Given the description of an element on the screen output the (x, y) to click on. 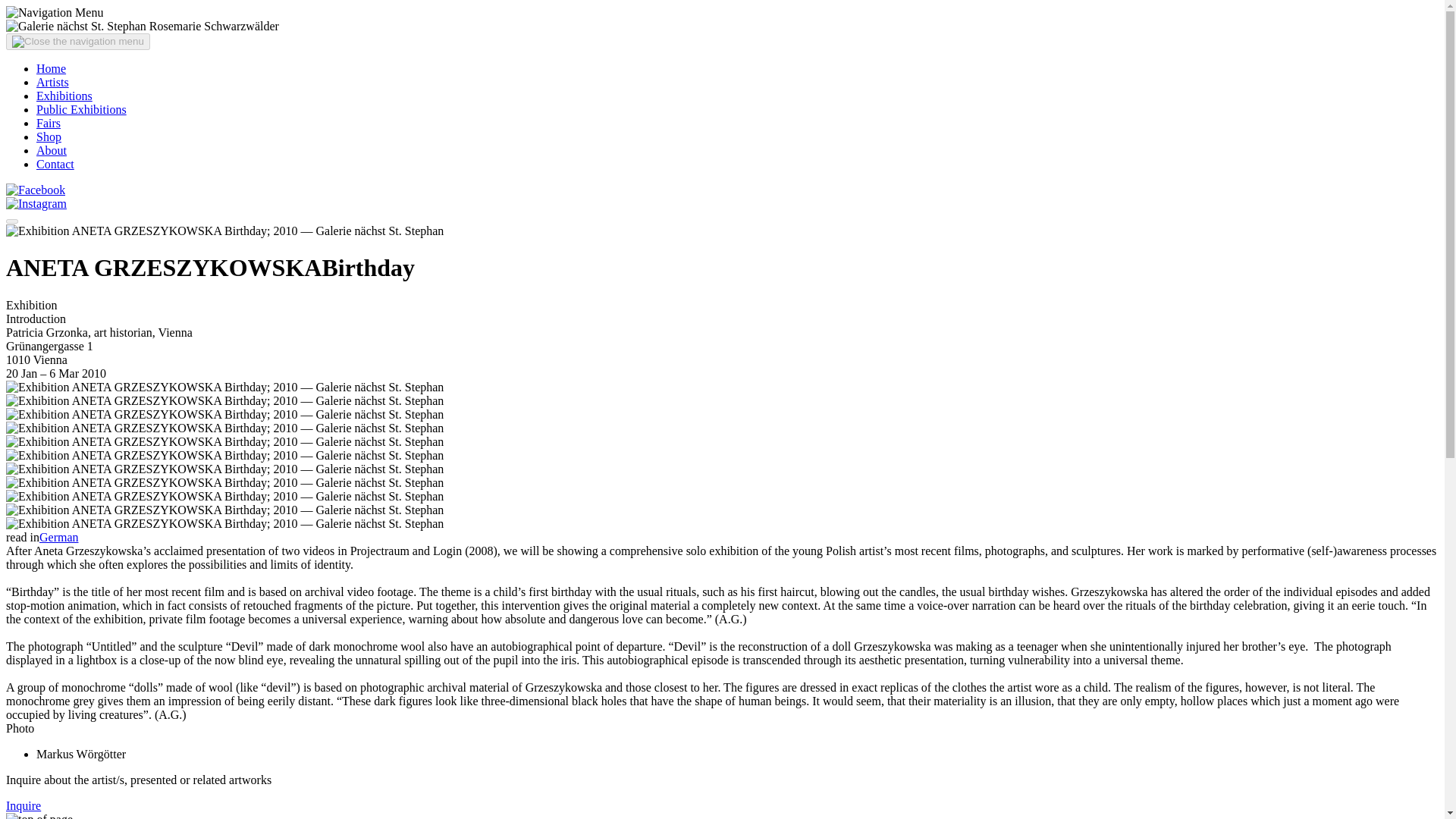
Fairs (48, 123)
Shop (48, 136)
Close navigation menu (77, 41)
About (51, 150)
Exhibitions (64, 95)
Home (50, 68)
Artists (52, 82)
Contact (55, 164)
Close navigation menu (11, 221)
Inquire (22, 805)
